Given the description of an element on the screen output the (x, y) to click on. 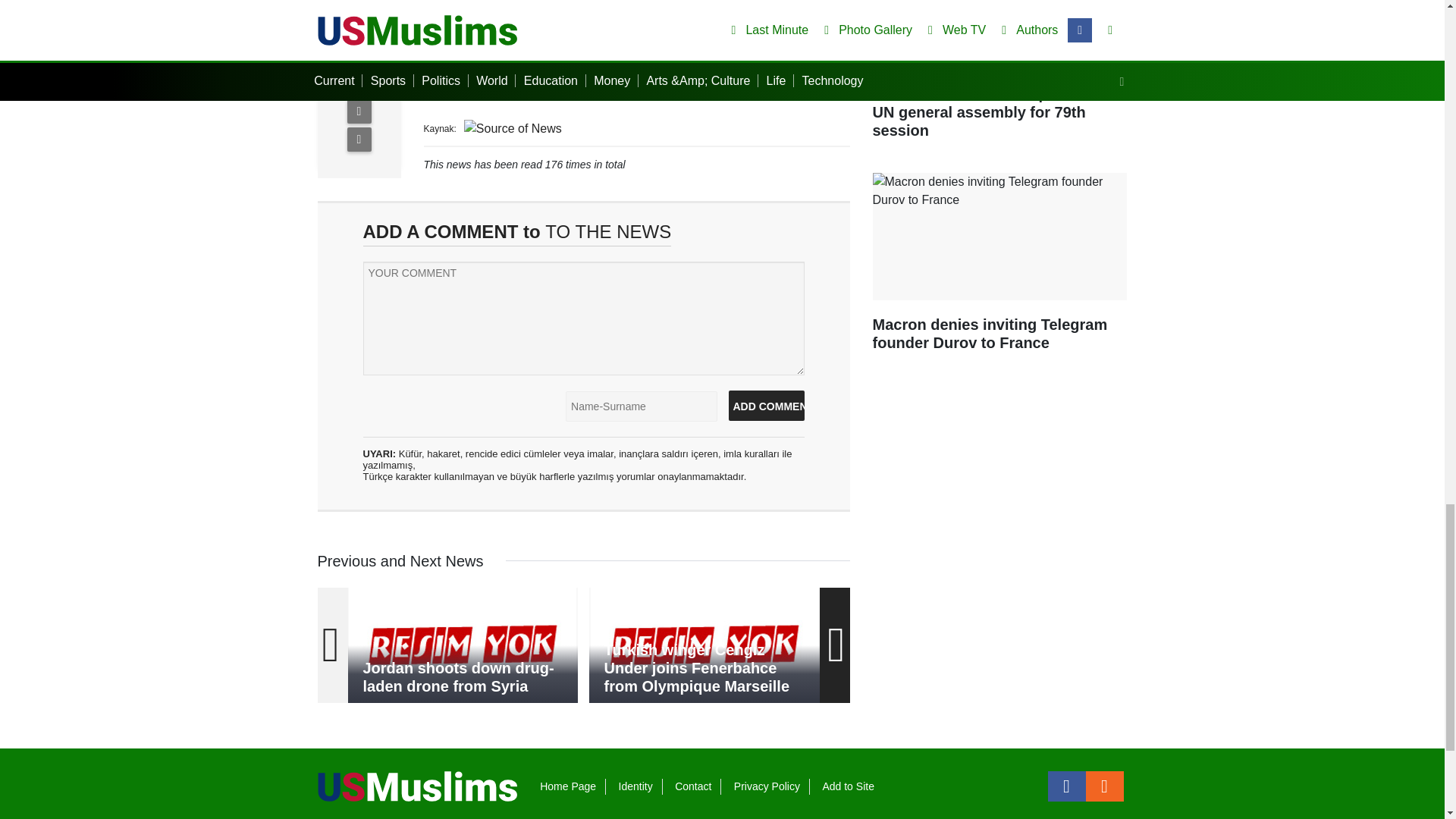
ADD COMMENT (765, 405)
Jordan shoots down drug-laden drone from Syria (462, 645)
Macron denies inviting Telegram founder Durov to France (999, 269)
Home Page (567, 786)
ADD COMMENT (765, 405)
US Muslims (416, 784)
Home Page (567, 786)
